Given the description of an element on the screen output the (x, y) to click on. 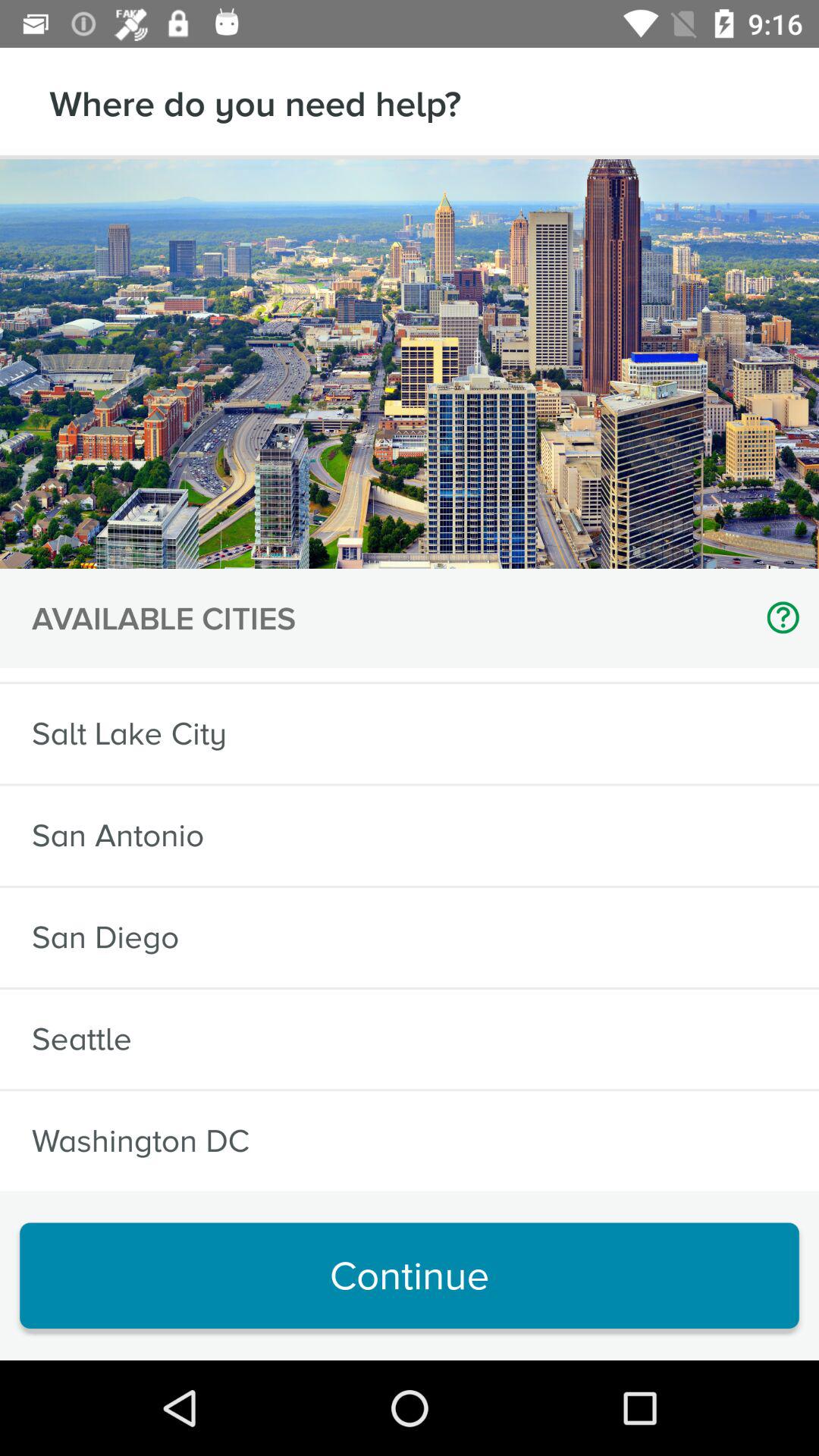
scroll until seattle (81, 1039)
